Given the description of an element on the screen output the (x, y) to click on. 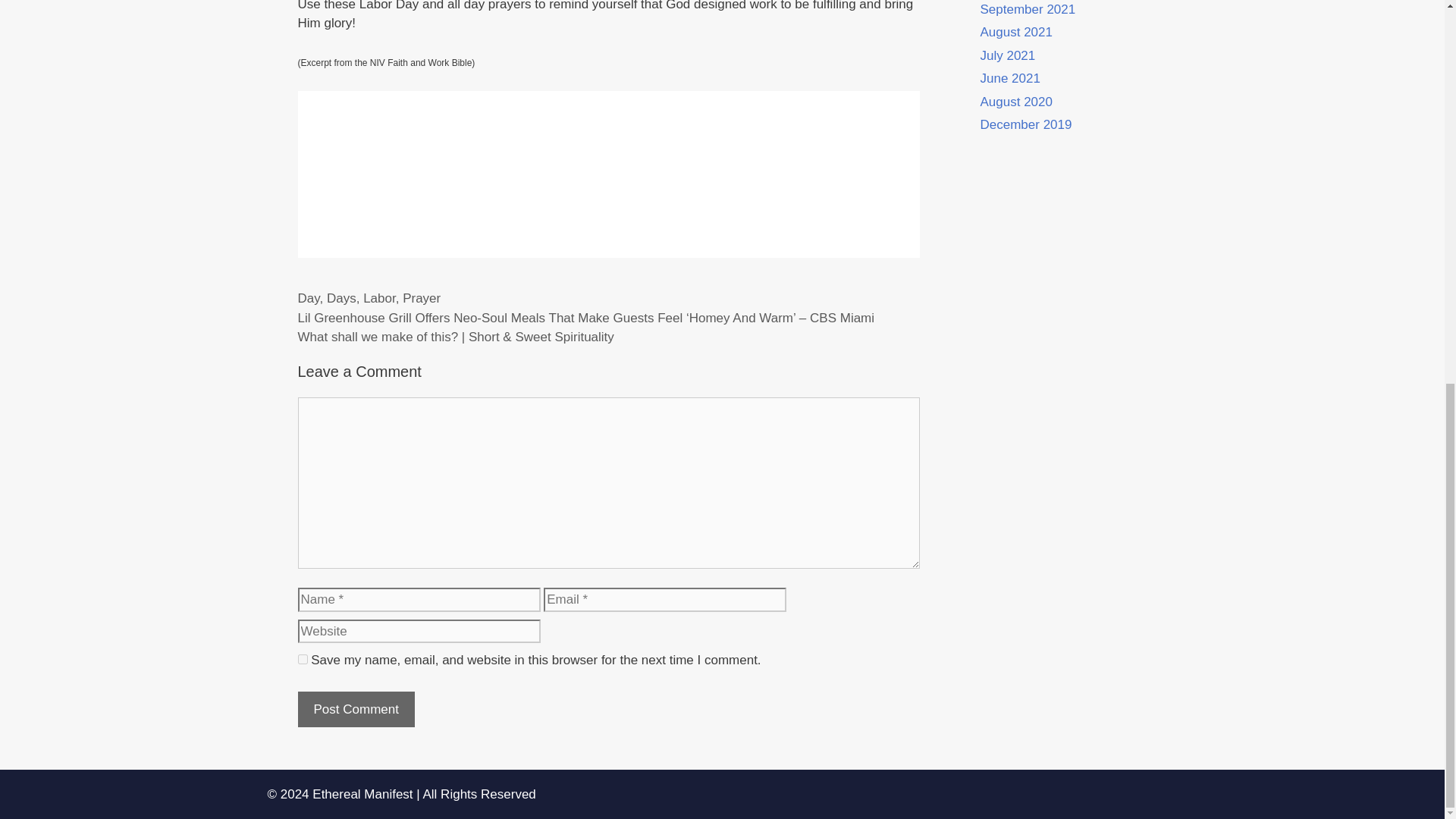
yes (302, 659)
Post Comment (355, 709)
Next (454, 336)
Previous (586, 318)
